Given the description of an element on the screen output the (x, y) to click on. 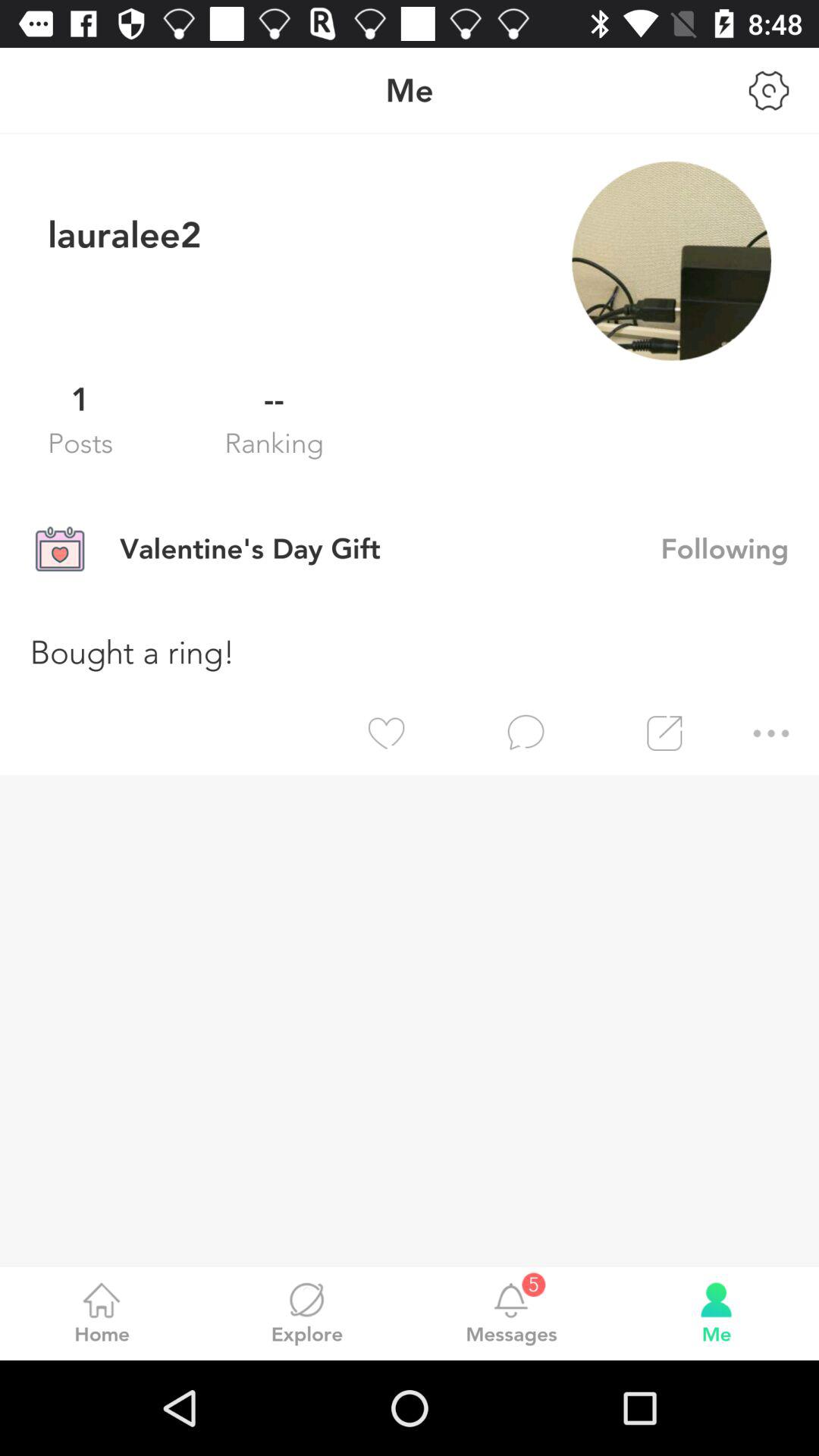
turn off item next to me icon (768, 90)
